Given the description of an element on the screen output the (x, y) to click on. 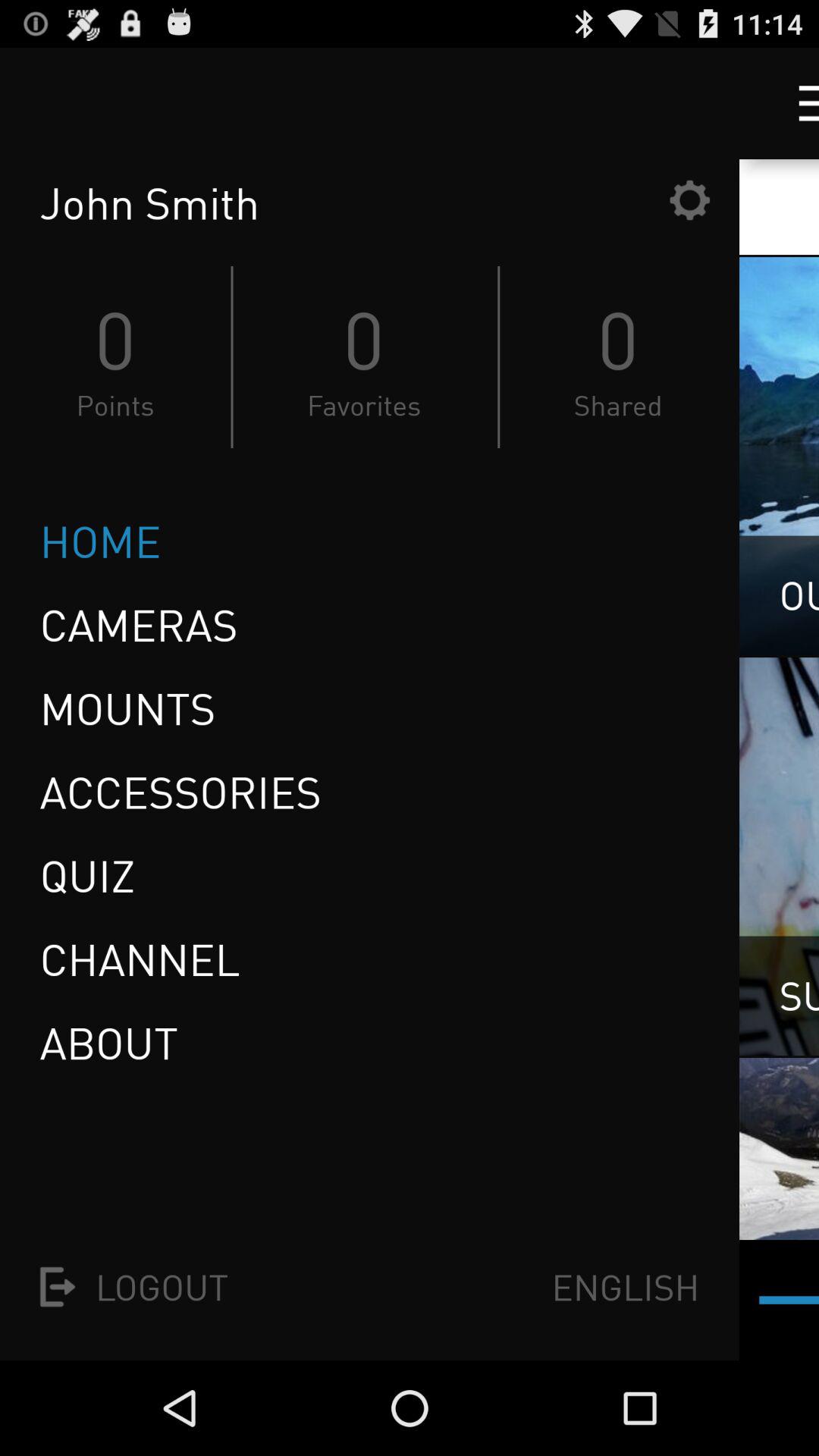
select quiz (92, 875)
